Given the description of an element on the screen output the (x, y) to click on. 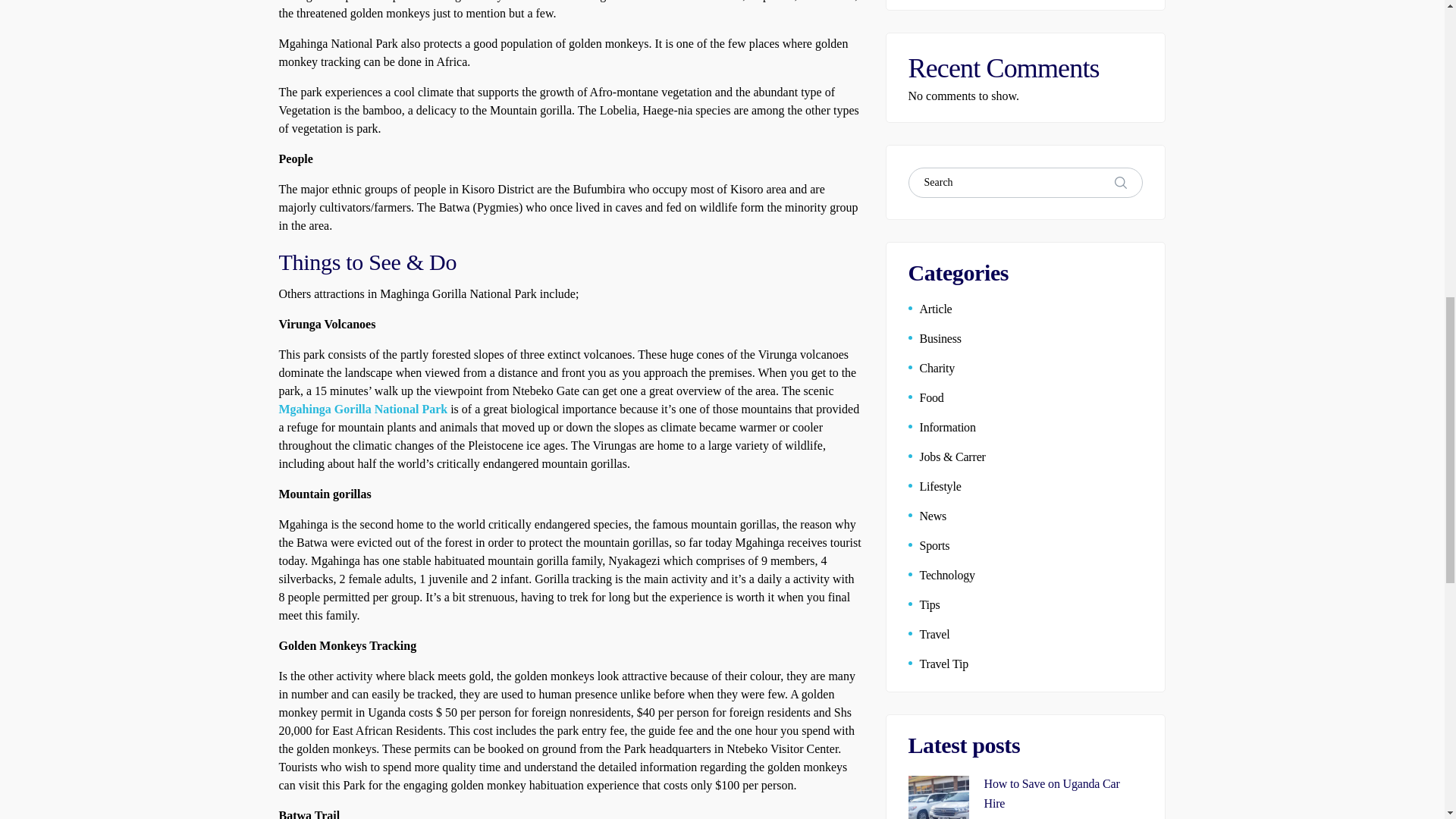
Mgahinga Gorilla National Park (363, 408)
Search (1120, 182)
Search (1120, 182)
